Given the description of an element on the screen output the (x, y) to click on. 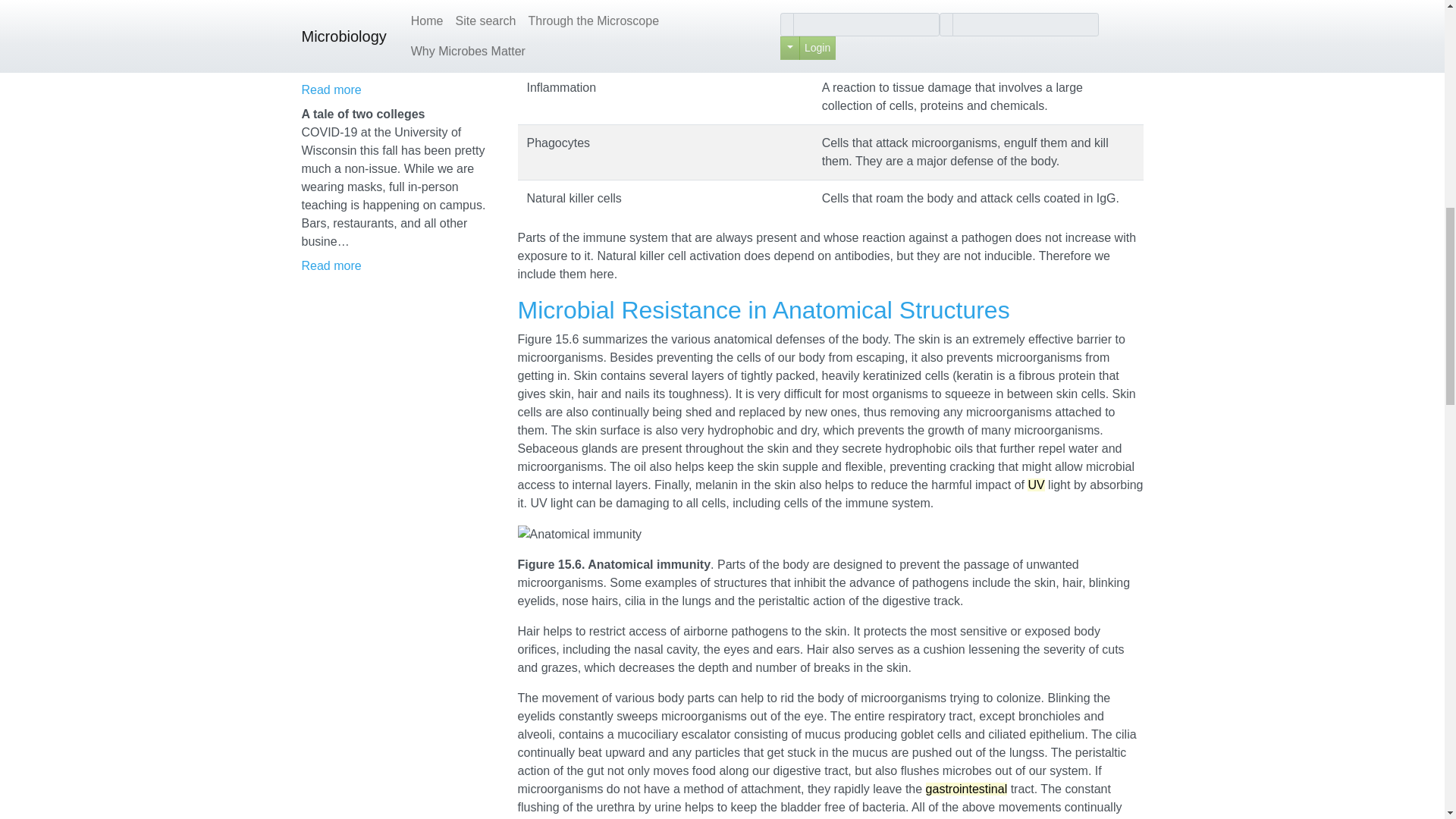
gastrointestinal (966, 788)
Read more (331, 89)
Referring to the digestive tract. (966, 788)
Read more (331, 265)
Read more (331, 89)
UV (1035, 484)
Read more (331, 265)
